Given the description of an element on the screen output the (x, y) to click on. 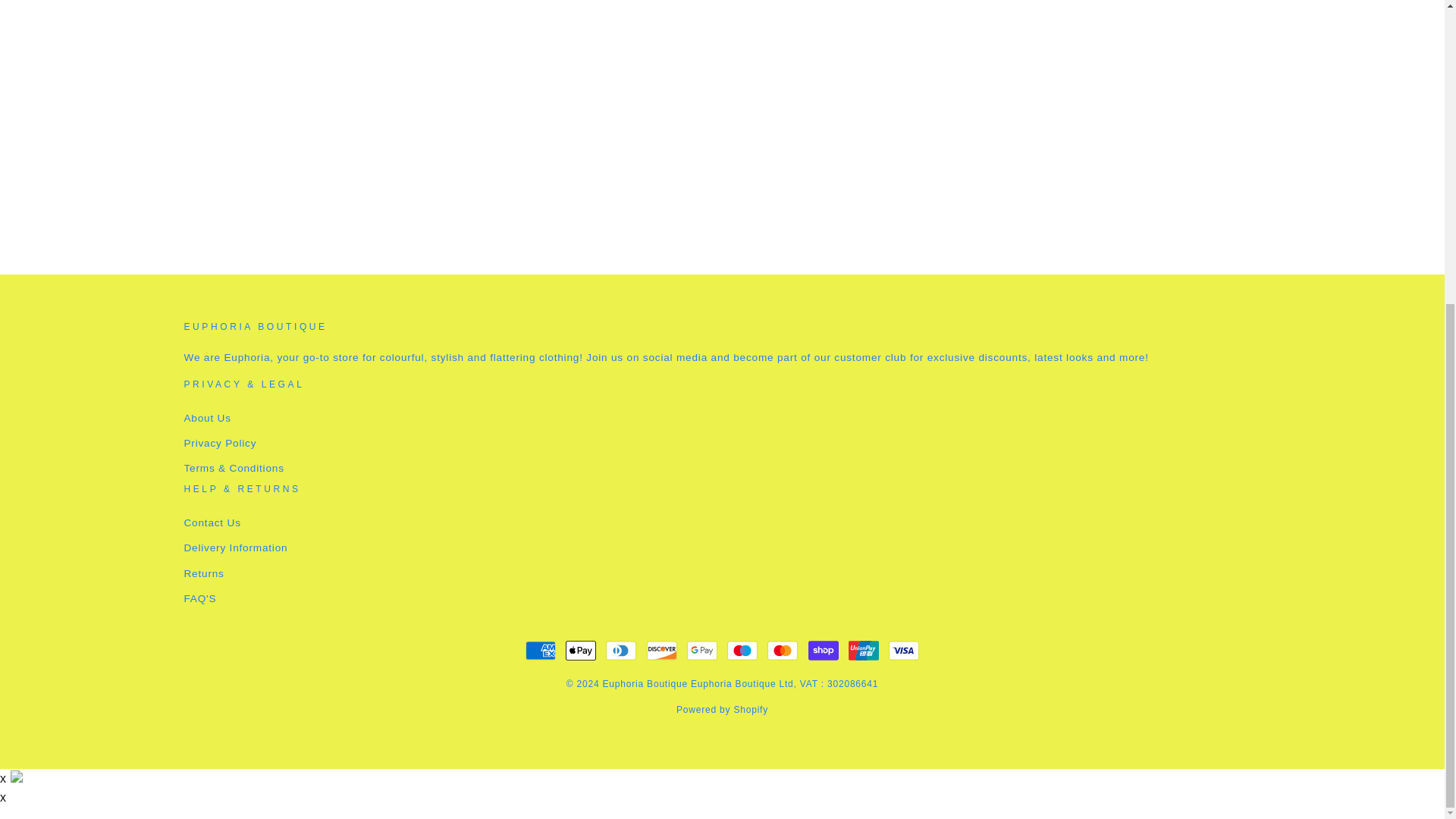
Mastercard (782, 650)
Visa (903, 650)
American Express (540, 650)
Shop Pay (823, 650)
Maestro (741, 650)
Diners Club (620, 650)
Google Pay (702, 650)
Union Pay (863, 650)
Apple Pay (580, 650)
Discover (661, 650)
